Given the description of an element on the screen output the (x, y) to click on. 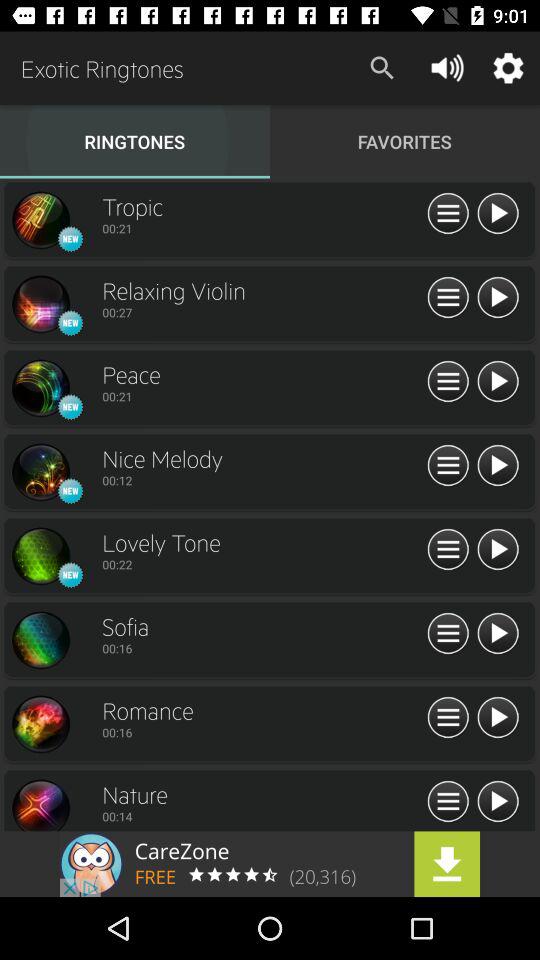
go to advertisement page (270, 864)
